Given the description of an element on the screen output the (x, y) to click on. 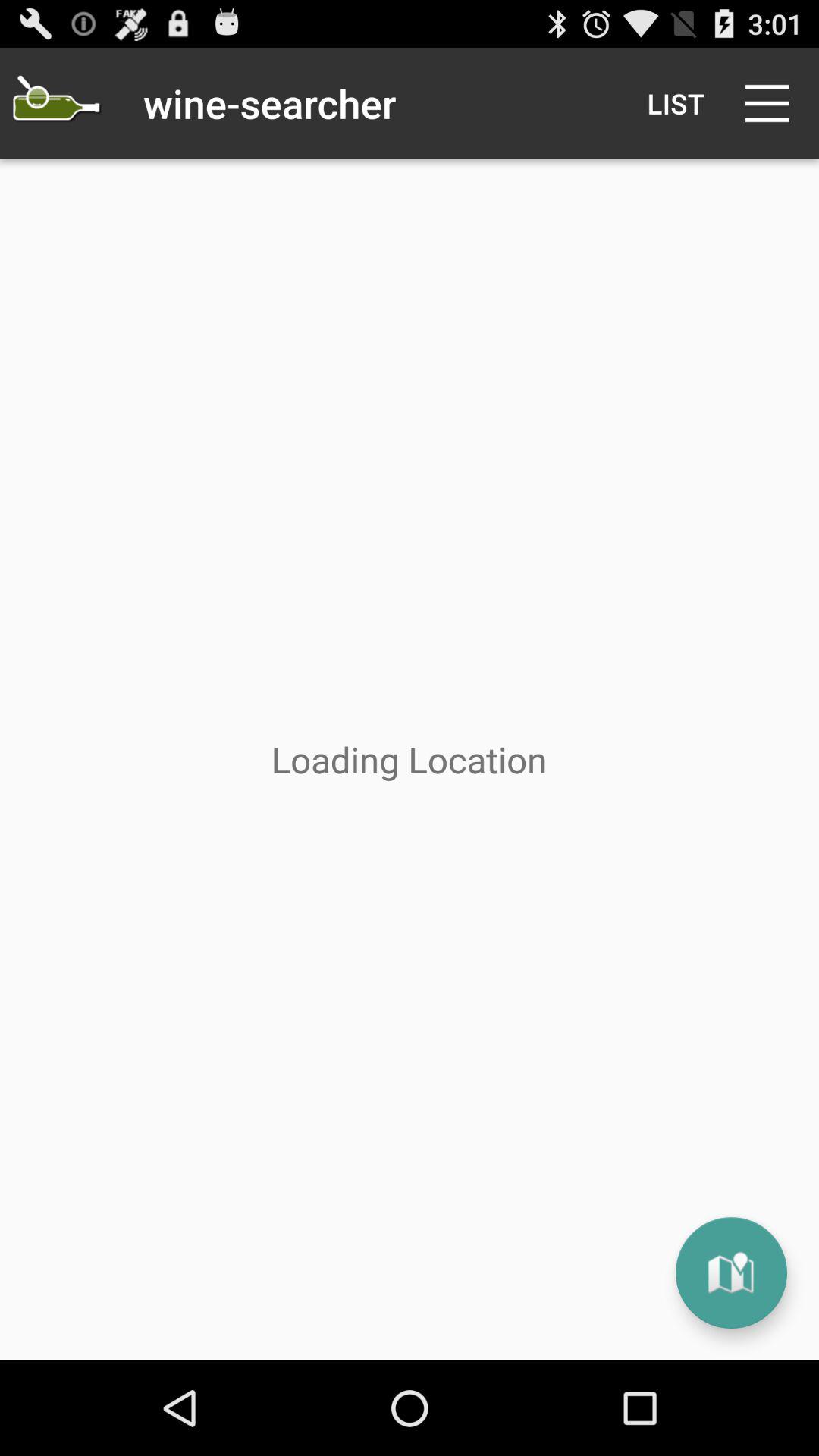
search for wine information (55, 103)
